Given the description of an element on the screen output the (x, y) to click on. 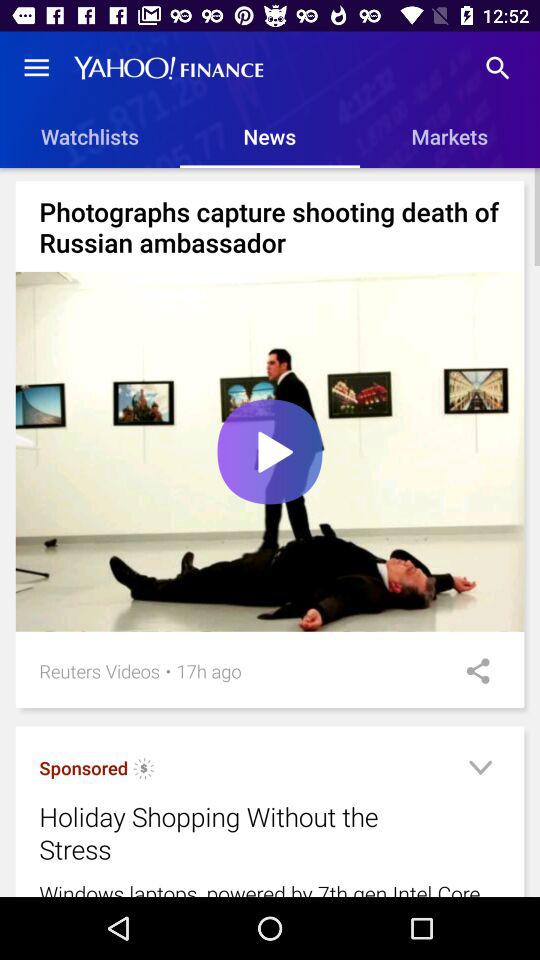
tap the item to the right of sponsored item (143, 771)
